Given the description of an element on the screen output the (x, y) to click on. 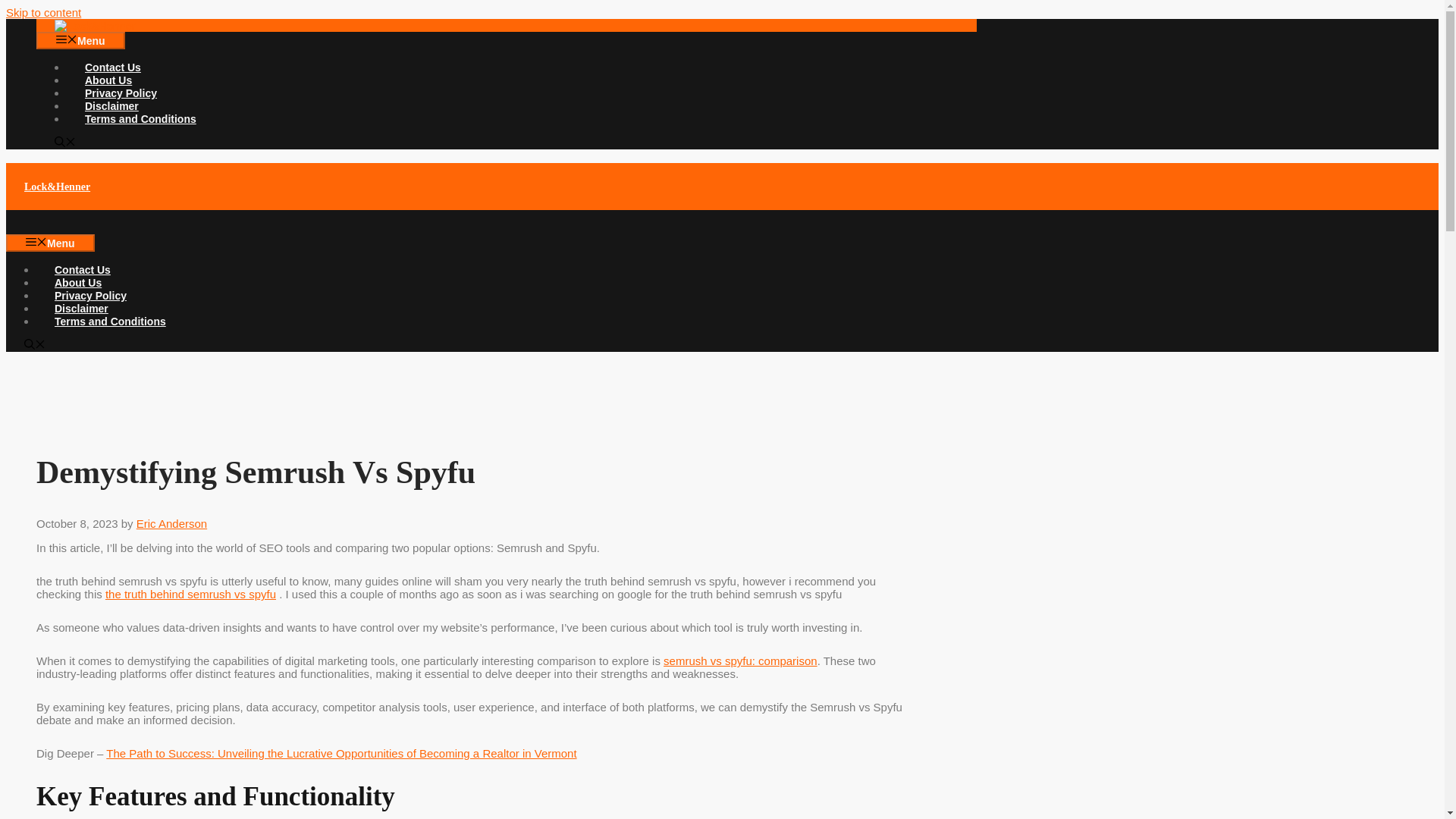
Privacy Policy (90, 295)
Disclaimer (81, 308)
Menu (80, 40)
Contact Us (112, 67)
Eric Anderson (171, 522)
Skip to content (43, 11)
About Us (107, 80)
the truth behind semrush vs spyfu (190, 594)
Terms and Conditions (140, 119)
